Given the description of an element on the screen output the (x, y) to click on. 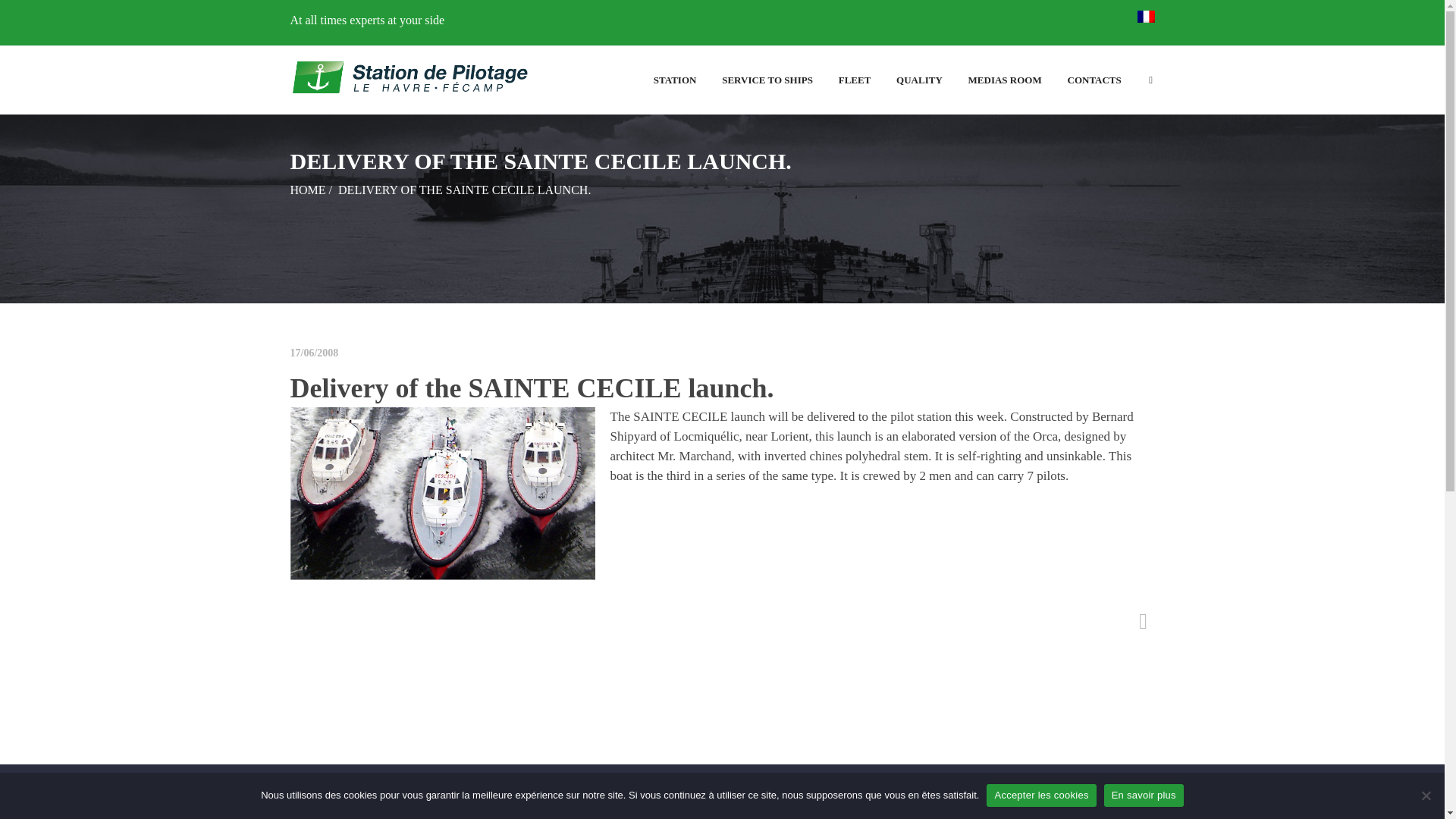
Delivery of the SAINTE CECILE launch. (531, 388)
MEDIAS ROOM (1004, 80)
STATION (674, 80)
CONTACTS (1094, 80)
SERVICE TO SHIPS (767, 80)
Home (306, 189)
HOME (306, 189)
Non (1425, 795)
QUALITY (919, 80)
